Given the description of an element on the screen output the (x, y) to click on. 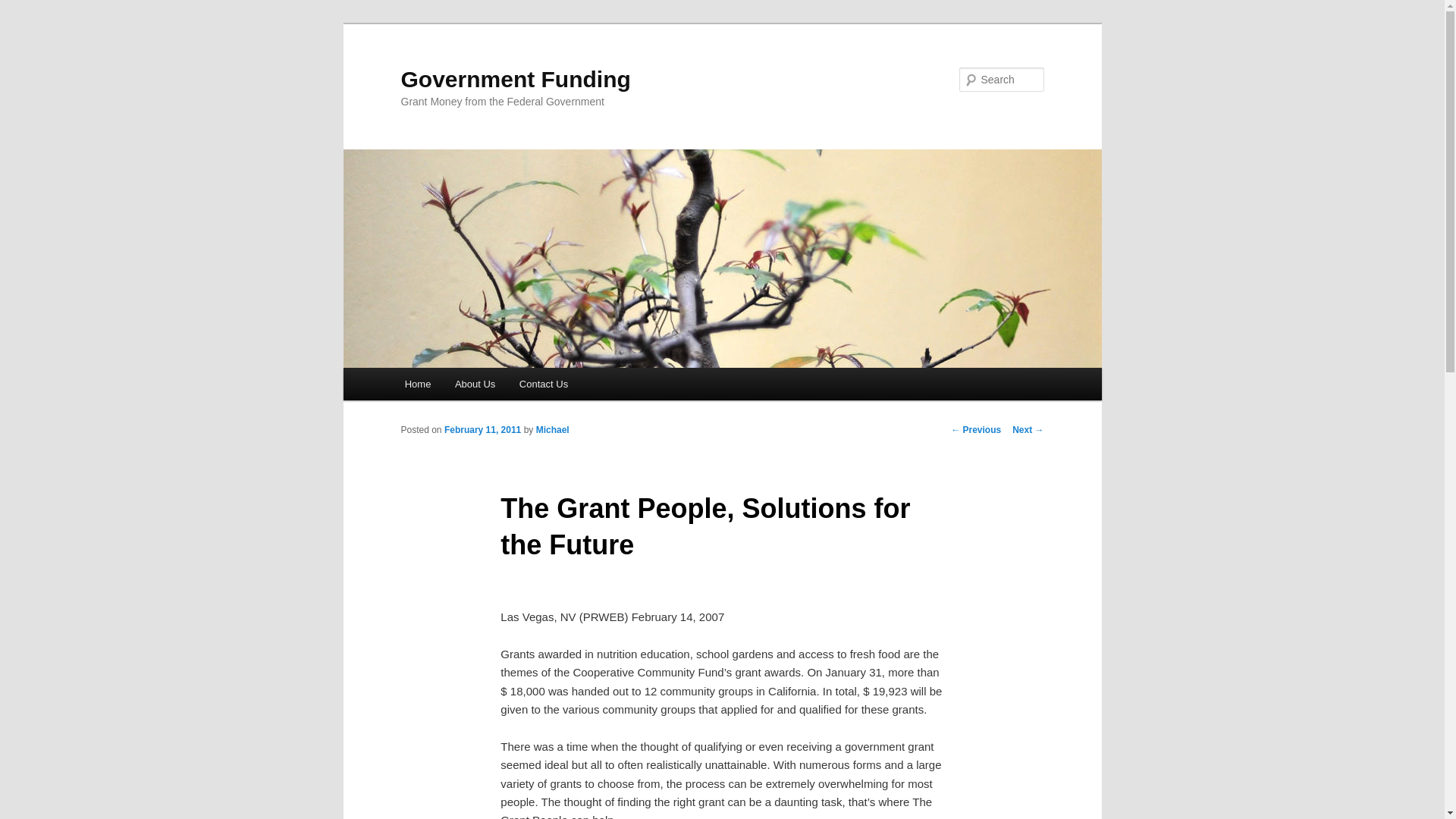
About Us (474, 383)
Contact Us (542, 383)
Government Funding (515, 78)
Michael (552, 429)
6:00 pm (482, 429)
Home (417, 383)
View all posts by Michael (552, 429)
February 11, 2011 (482, 429)
Search (24, 8)
